Given the description of an element on the screen output the (x, y) to click on. 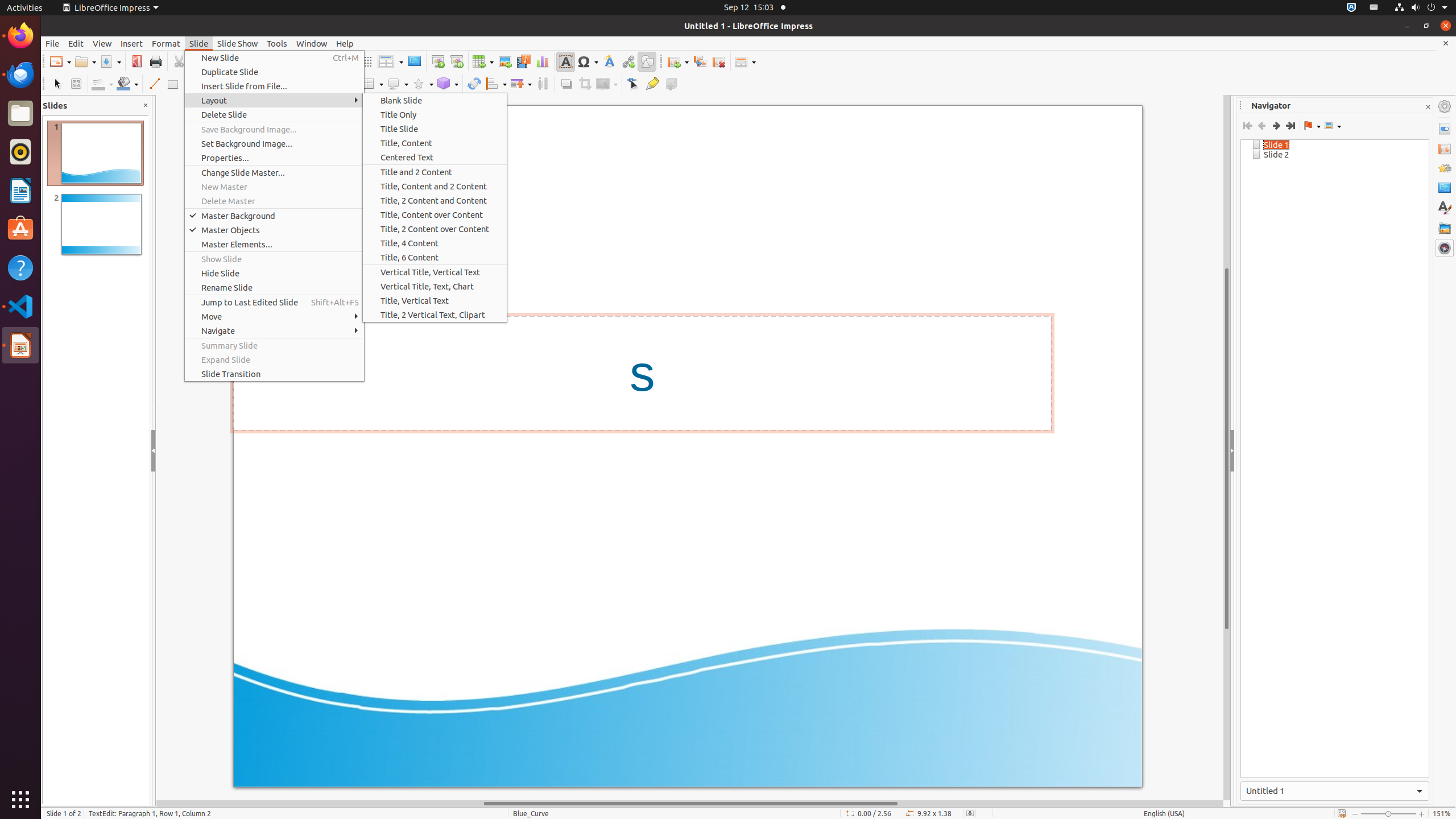
LibreOffice Impress Element type: menu (109, 7)
View Element type: menu (102, 43)
Title Only Element type: menu-item (434, 114)
:1.21/StatusNotifierItem Element type: menu (1373, 7)
Close Pane Element type: push-button (145, 105)
